Given the description of an element on the screen output the (x, y) to click on. 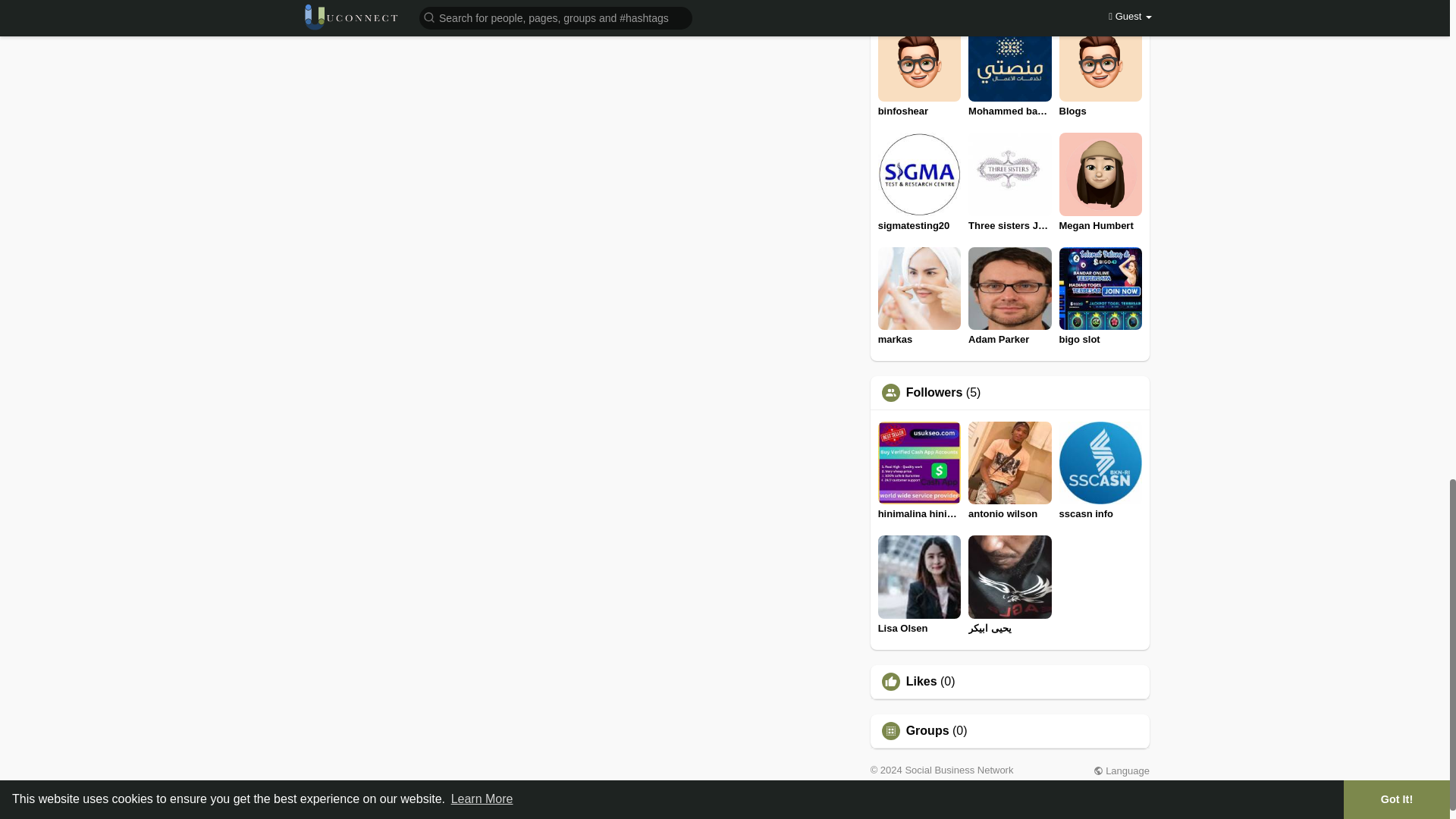
Followers (933, 392)
